Given the description of an element on the screen output the (x, y) to click on. 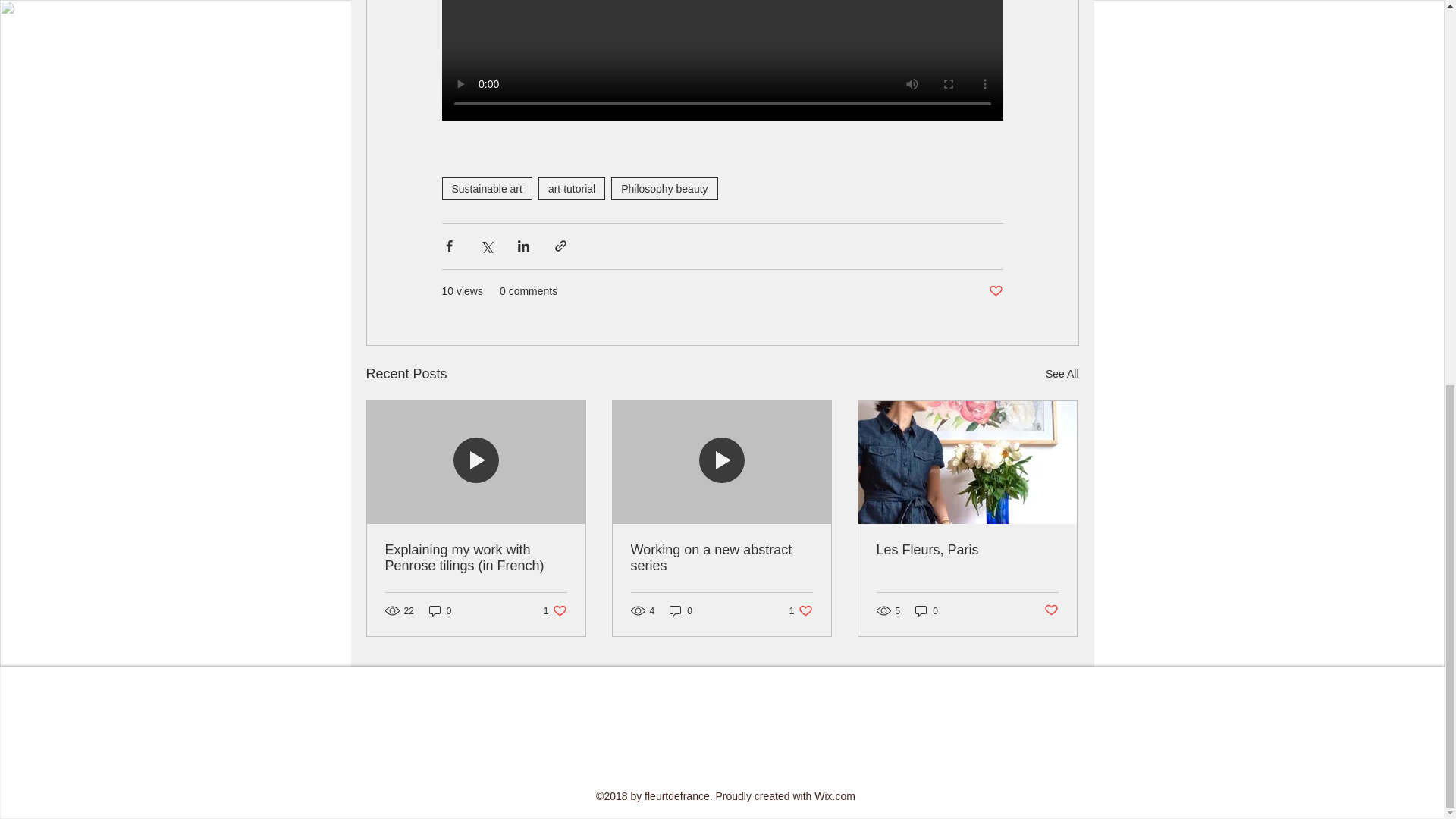
See All (800, 610)
Post not marked as liked (1061, 373)
Post not marked as liked (995, 291)
Sustainable art (1050, 610)
0 (555, 610)
art tutorial (486, 188)
Philosophy beauty (440, 610)
0 (571, 188)
0 (664, 188)
Les Fleurs, Paris (926, 610)
Working on a new abstract series (681, 610)
